Given the description of an element on the screen output the (x, y) to click on. 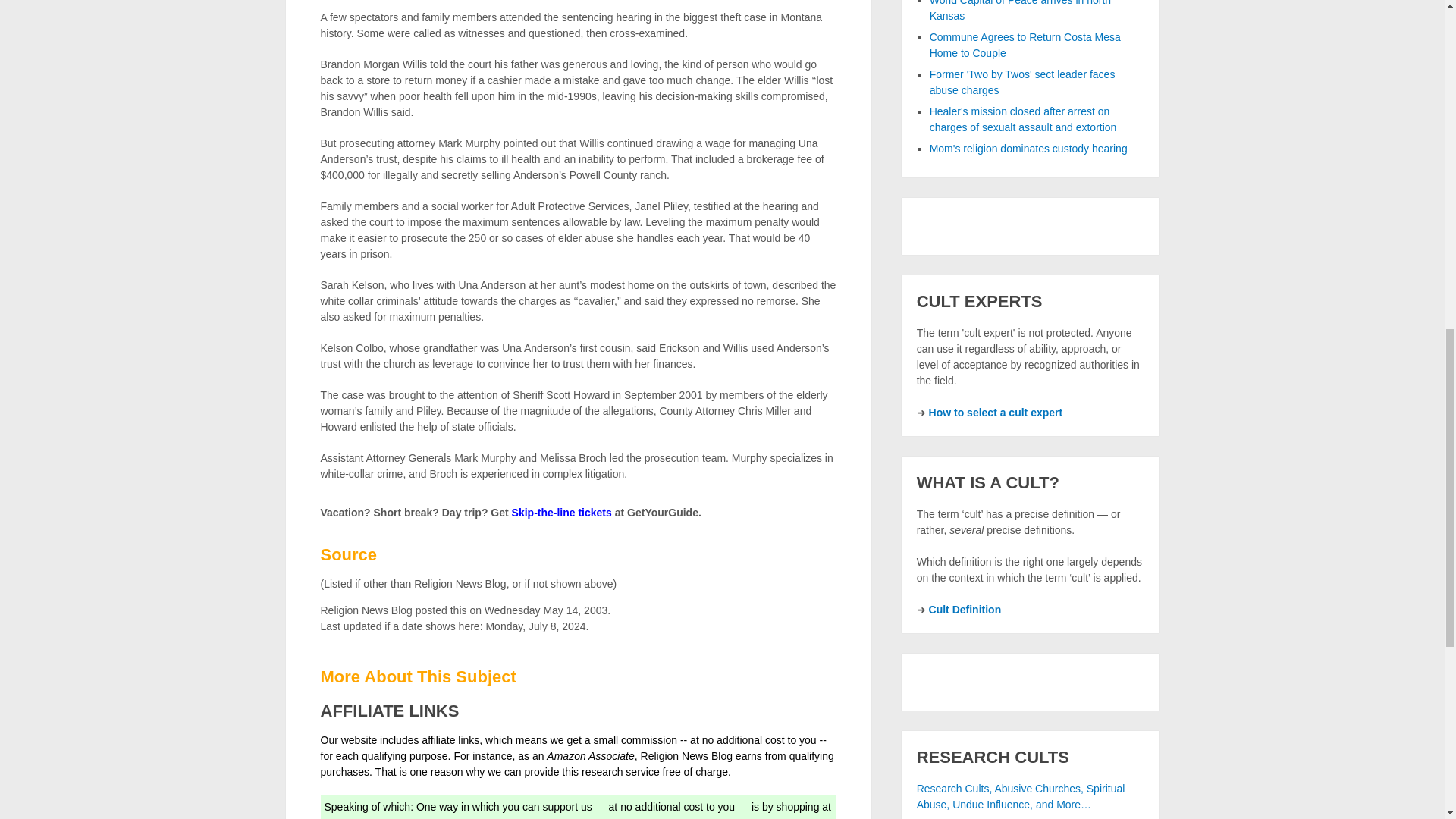
World Capital of Peace arrives in north Kansas (1020, 11)
How to select a cult expert (995, 412)
Amazon.com (355, 817)
Cult Definition (964, 609)
Former 'Two by Twos' sect leader faces abuse charges (1022, 81)
Commune Agrees to Return Costa Mesa Home to Couple (1025, 44)
Mom's religion dominates custody hearing (1028, 148)
Skip-the-line tickets (561, 512)
